Given the description of an element on the screen output the (x, y) to click on. 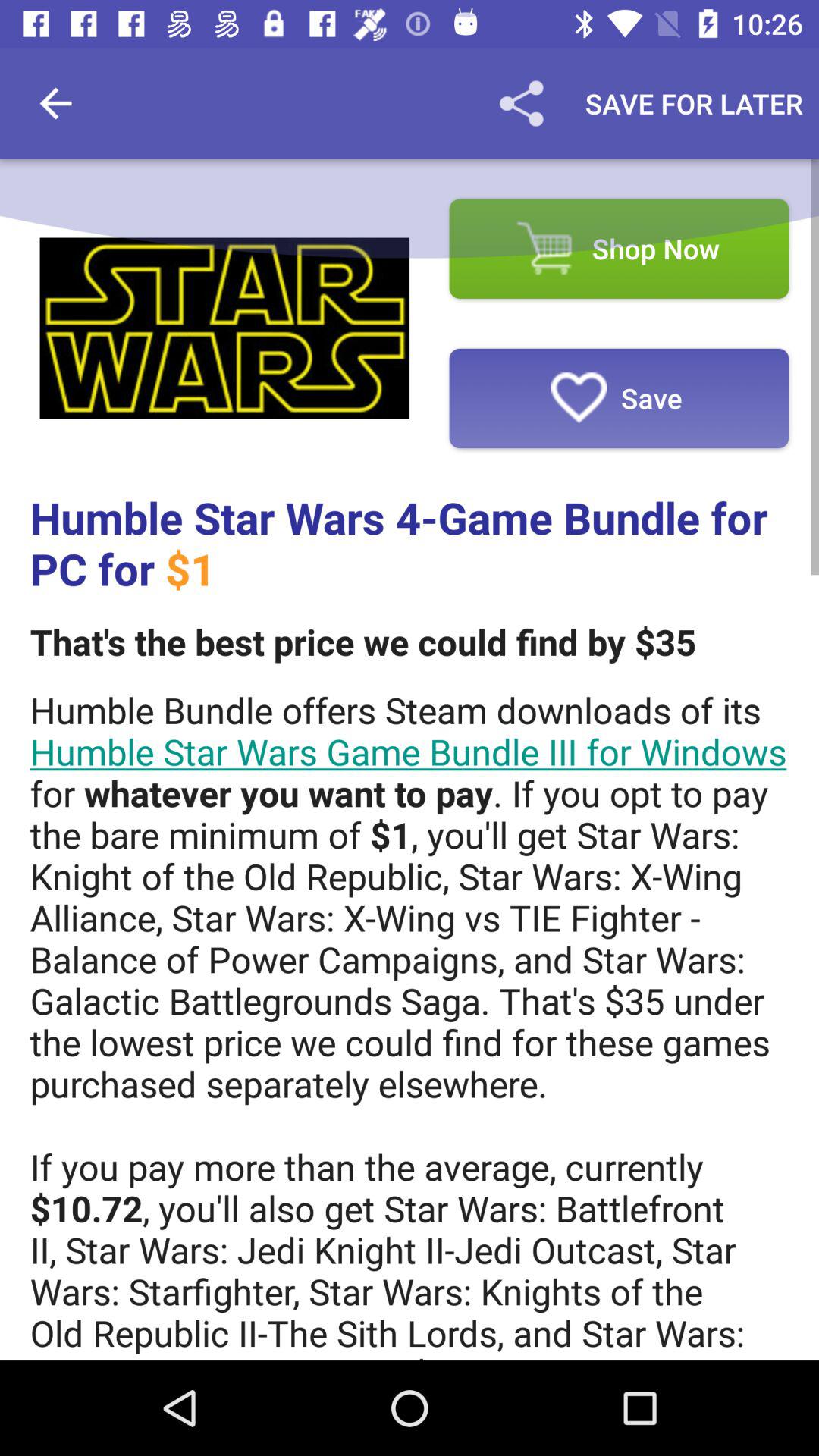
launch the item above shop now (521, 103)
